Given the description of an element on the screen output the (x, y) to click on. 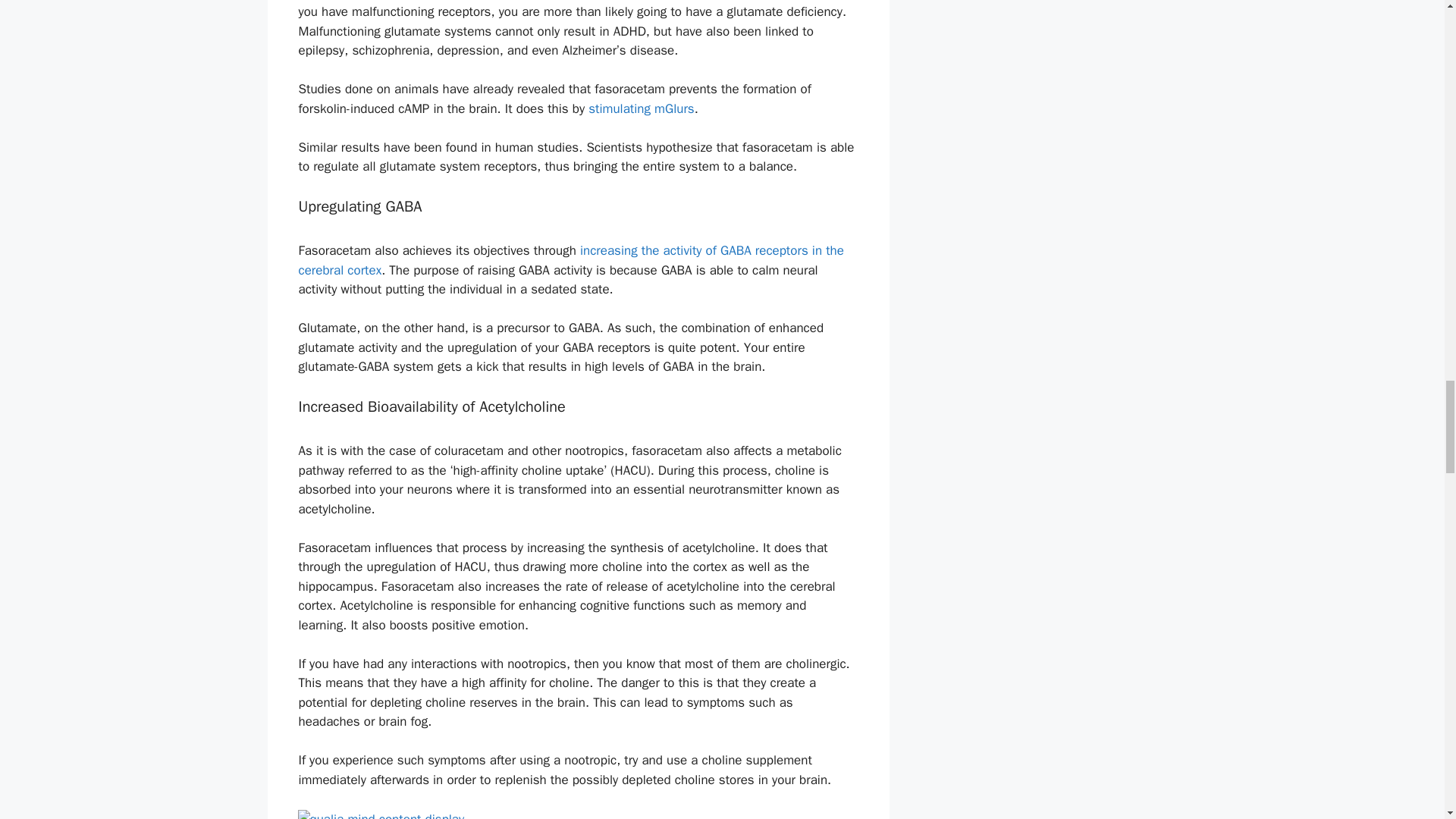
qualia mind content display (578, 814)
stimulating mGlurs (641, 108)
